Given the description of an element on the screen output the (x, y) to click on. 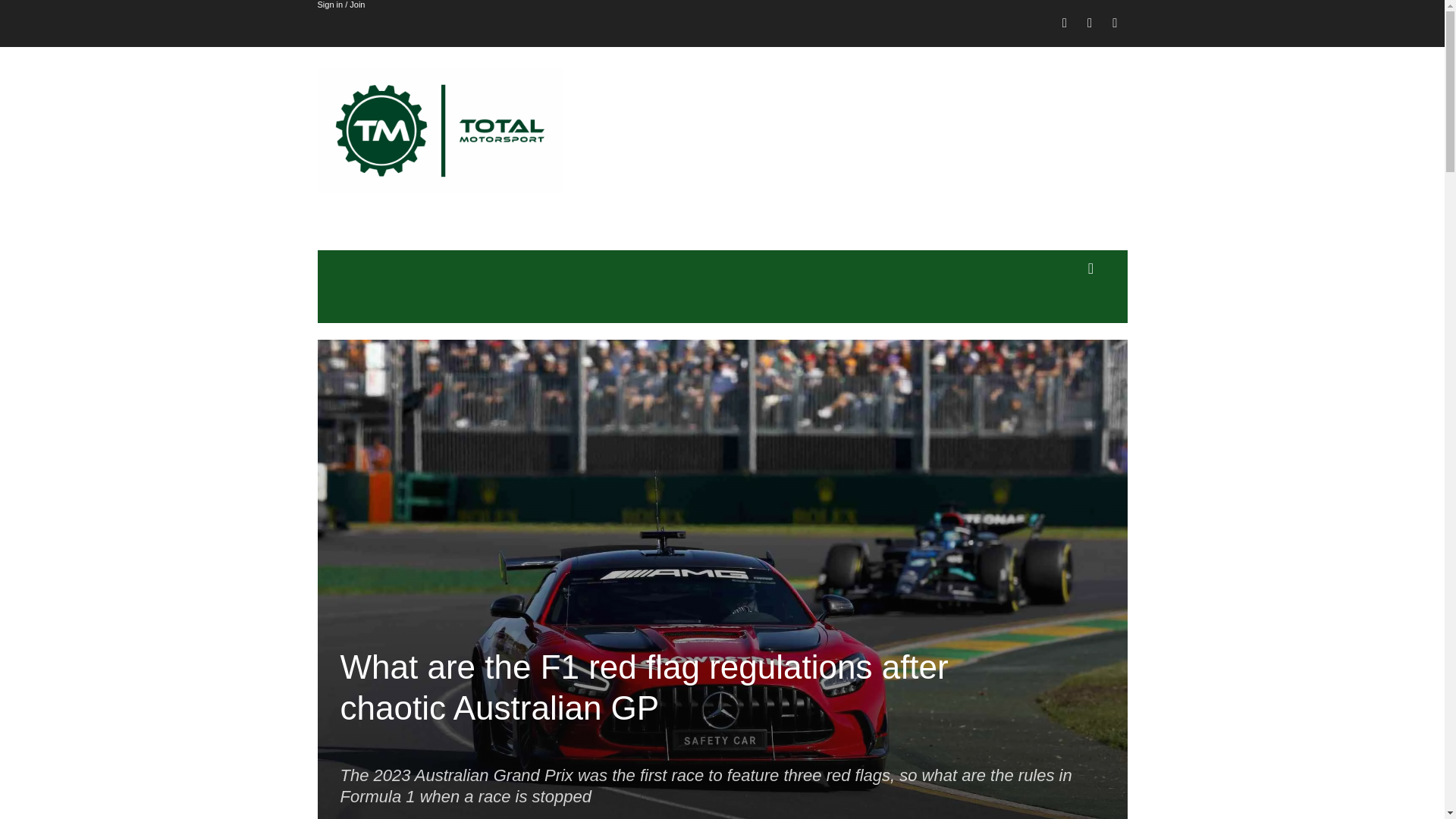
Facebook (1064, 23)
Instagram (1089, 23)
Twitter (1114, 23)
